Given the description of an element on the screen output the (x, y) to click on. 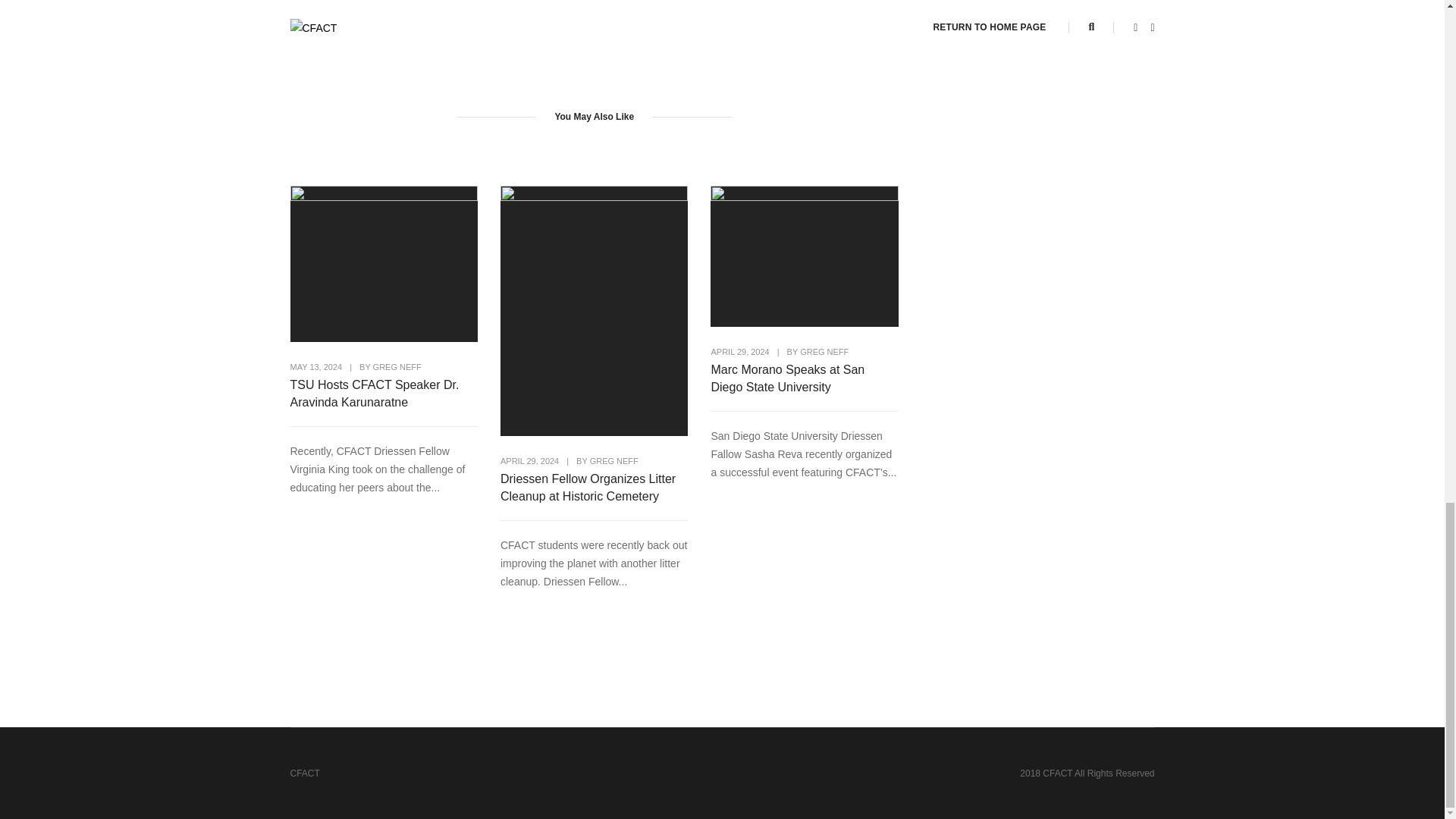
69 (815, 13)
GREG NEFF (614, 461)
GREG NEFF (397, 366)
Marc Morano Speaks at San Diego State University (804, 378)
GREG NEFF (823, 351)
Like (815, 13)
TSU Hosts CFACT Speaker Dr. Aravinda Karunaratne (383, 393)
